Given the description of an element on the screen output the (x, y) to click on. 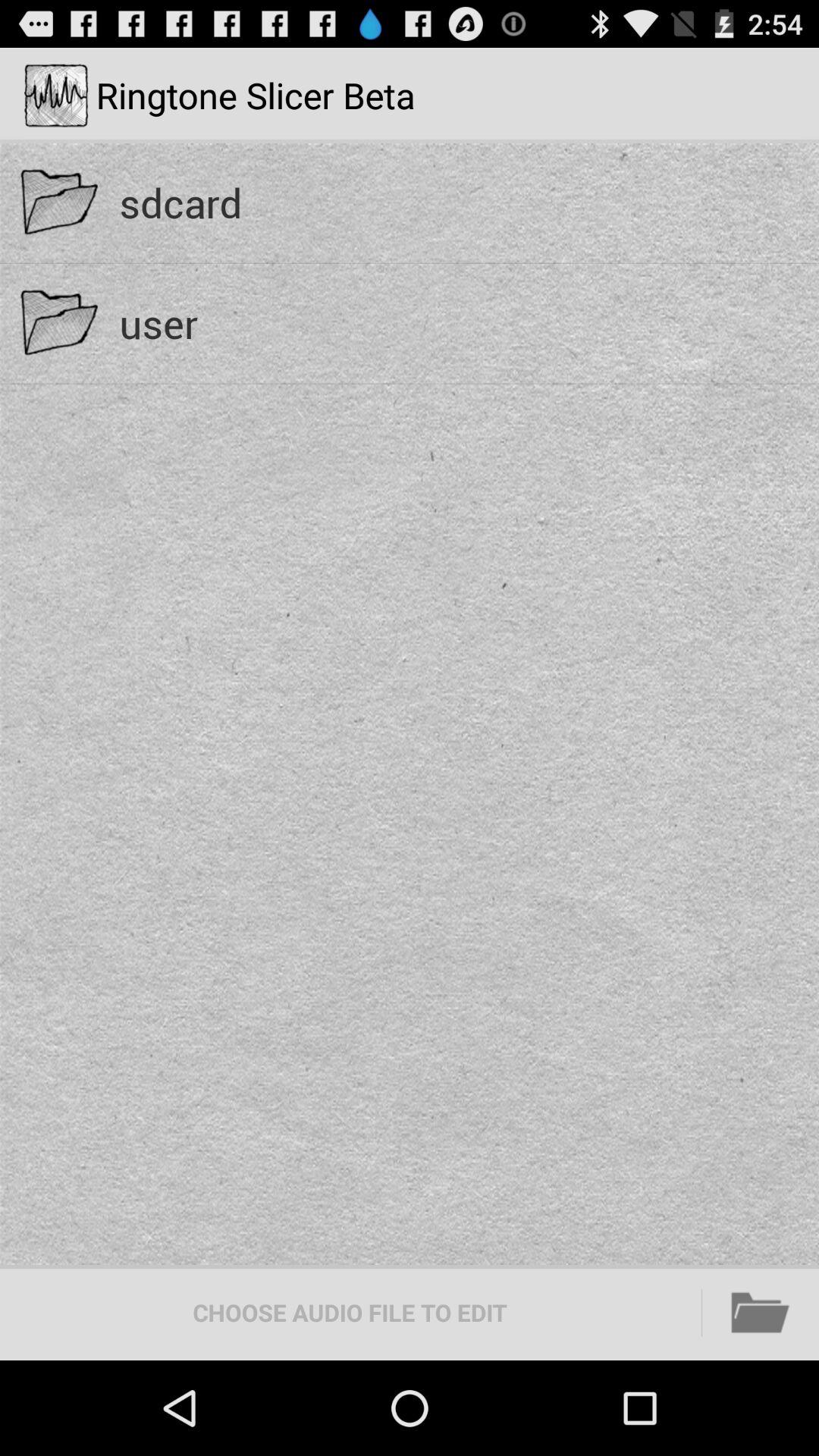
jump to the choose audio file item (349, 1312)
